Given the description of an element on the screen output the (x, y) to click on. 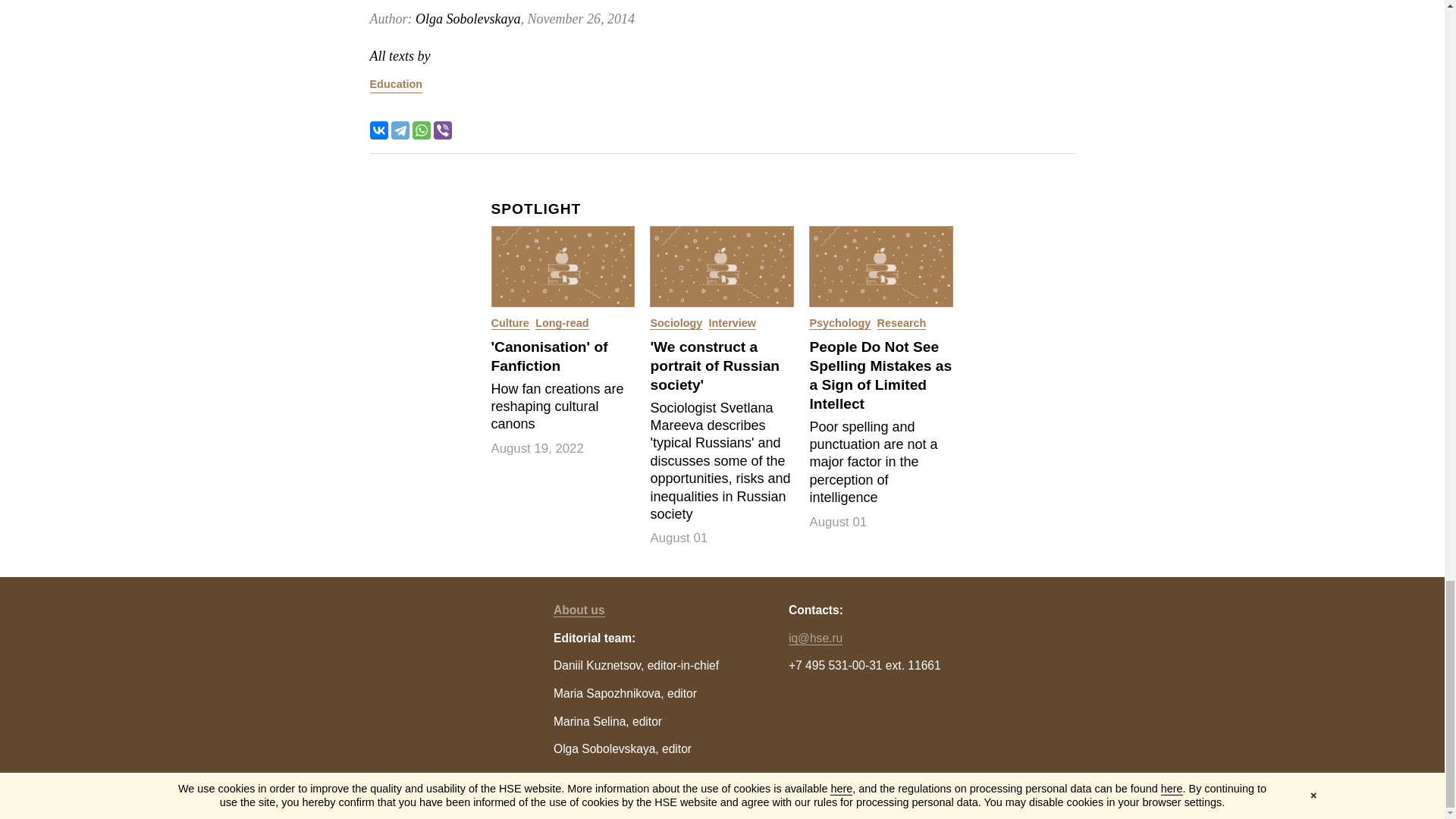
VKontakte (378, 130)
All texts by (399, 55)
Olga Sobolevskaya (466, 18)
WhatsApp (421, 130)
Culture (510, 323)
Viber (442, 130)
Education (396, 85)
Telegram (400, 130)
